Given the description of an element on the screen output the (x, y) to click on. 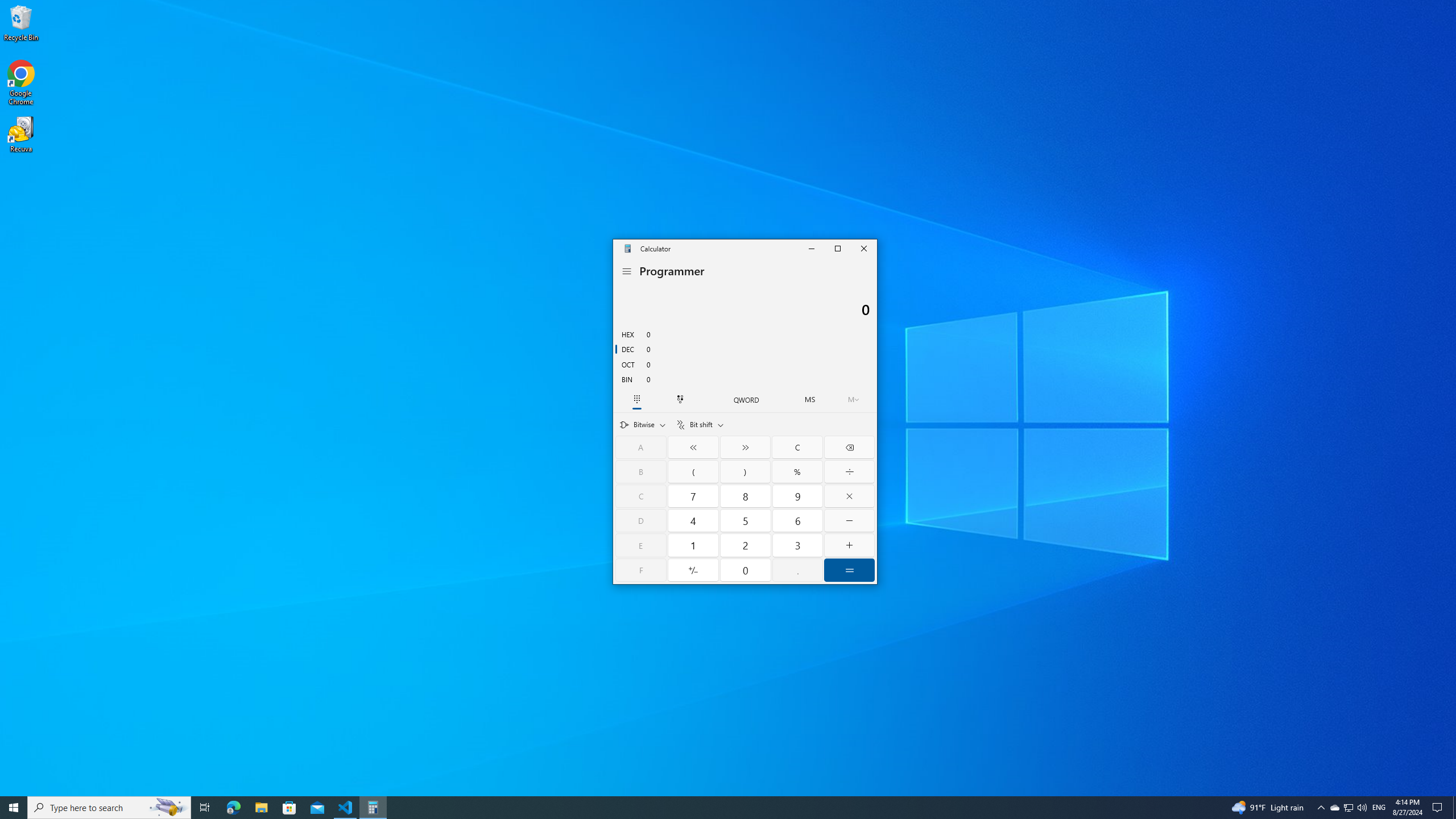
Divide by (849, 471)
Bitwise (643, 424)
D (640, 520)
Binary 0  (745, 378)
Open Navigation (626, 271)
Minimize Calculator (810, 248)
B (640, 471)
Quadruple Word toggle (745, 399)
